Given the description of an element on the screen output the (x, y) to click on. 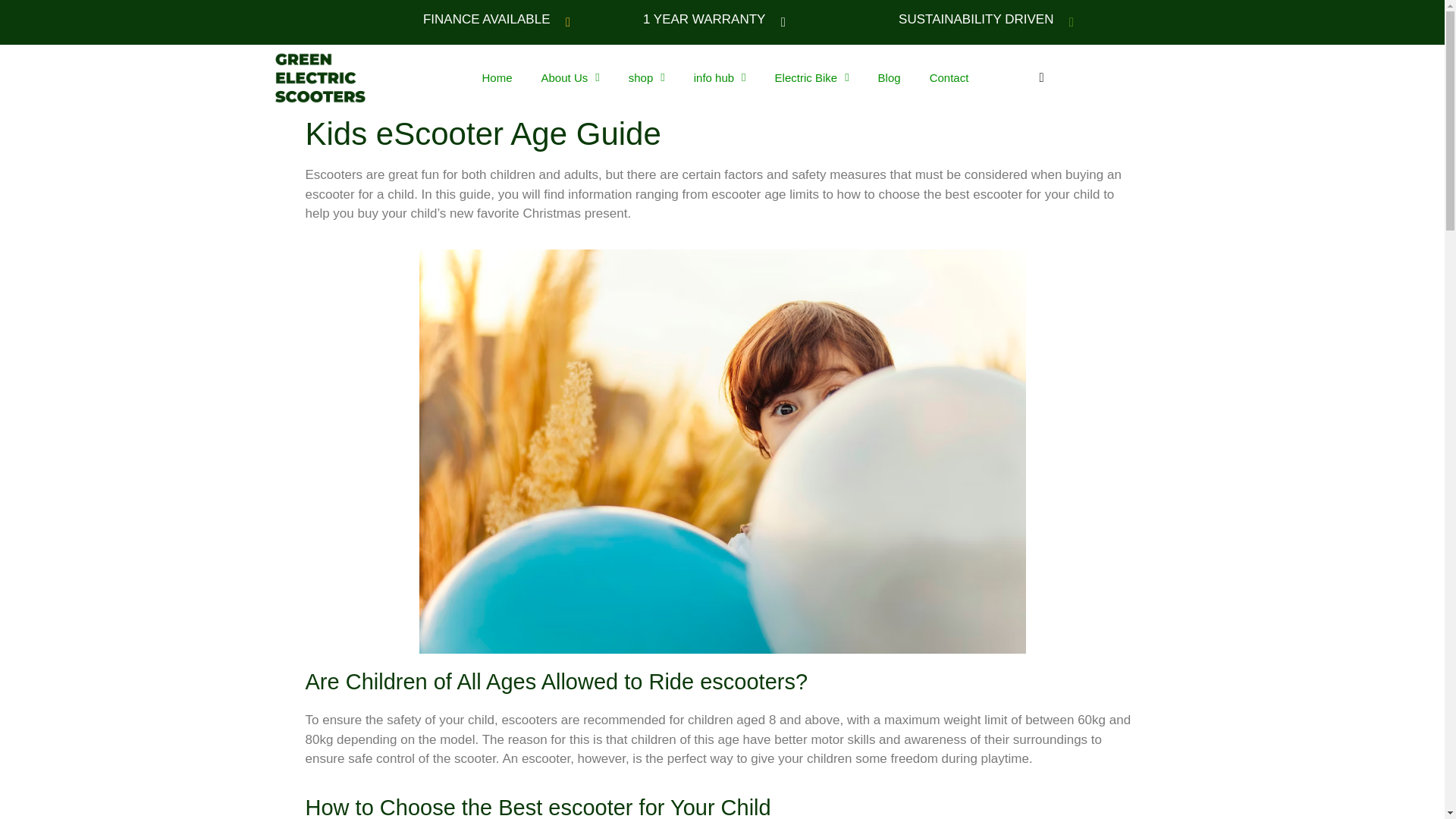
info hub (719, 77)
About Us (570, 77)
shop (646, 77)
Home (496, 77)
